Given the description of an element on the screen output the (x, y) to click on. 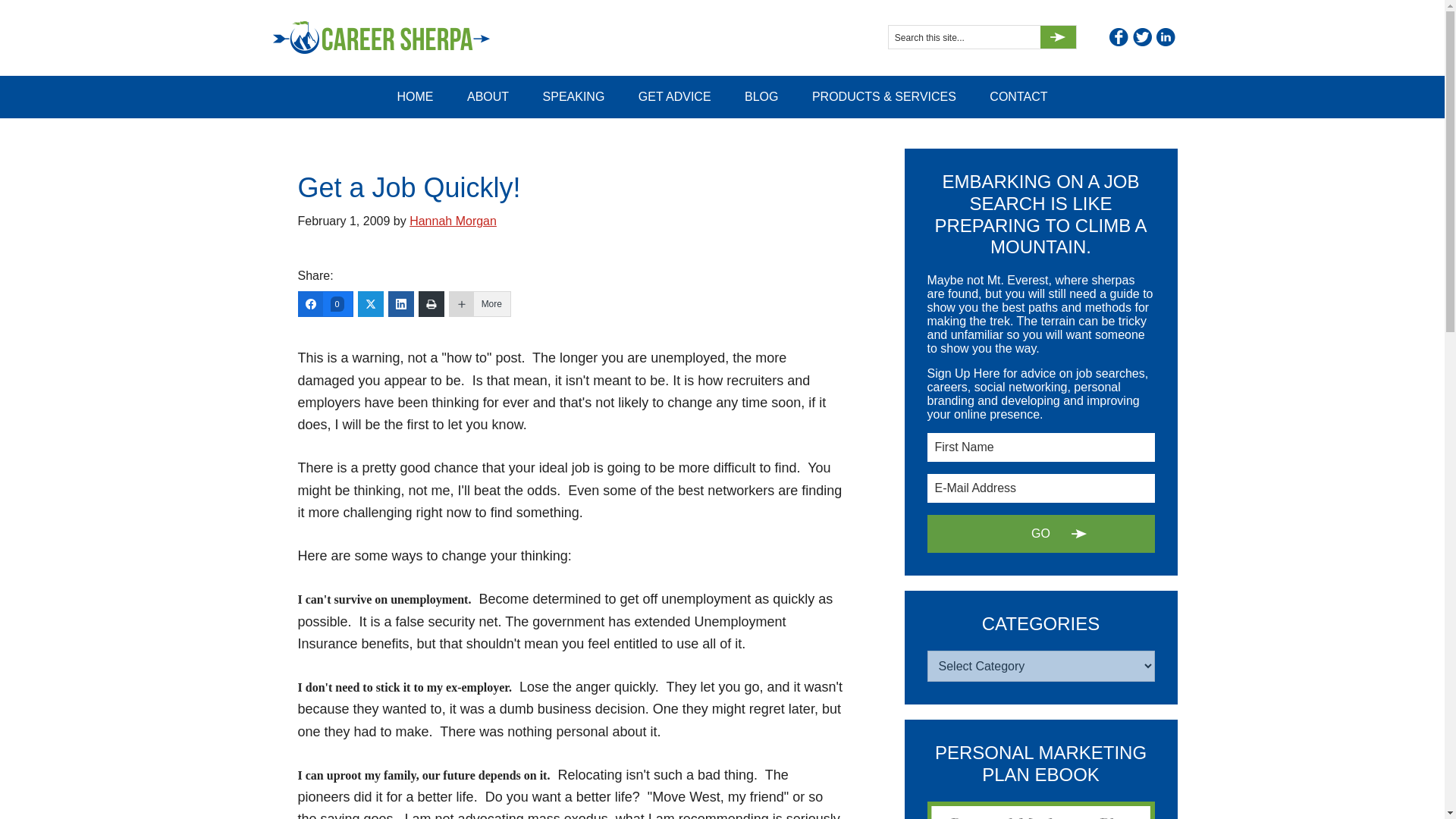
GET ADVICE (674, 96)
Career Sherpa (403, 37)
0 (324, 303)
Twitter (1141, 36)
Go (1058, 36)
Linkedin (1165, 36)
Go (1040, 533)
ABOUT (487, 96)
Go (1040, 533)
CONTACT (1018, 96)
